Given the description of an element on the screen output the (x, y) to click on. 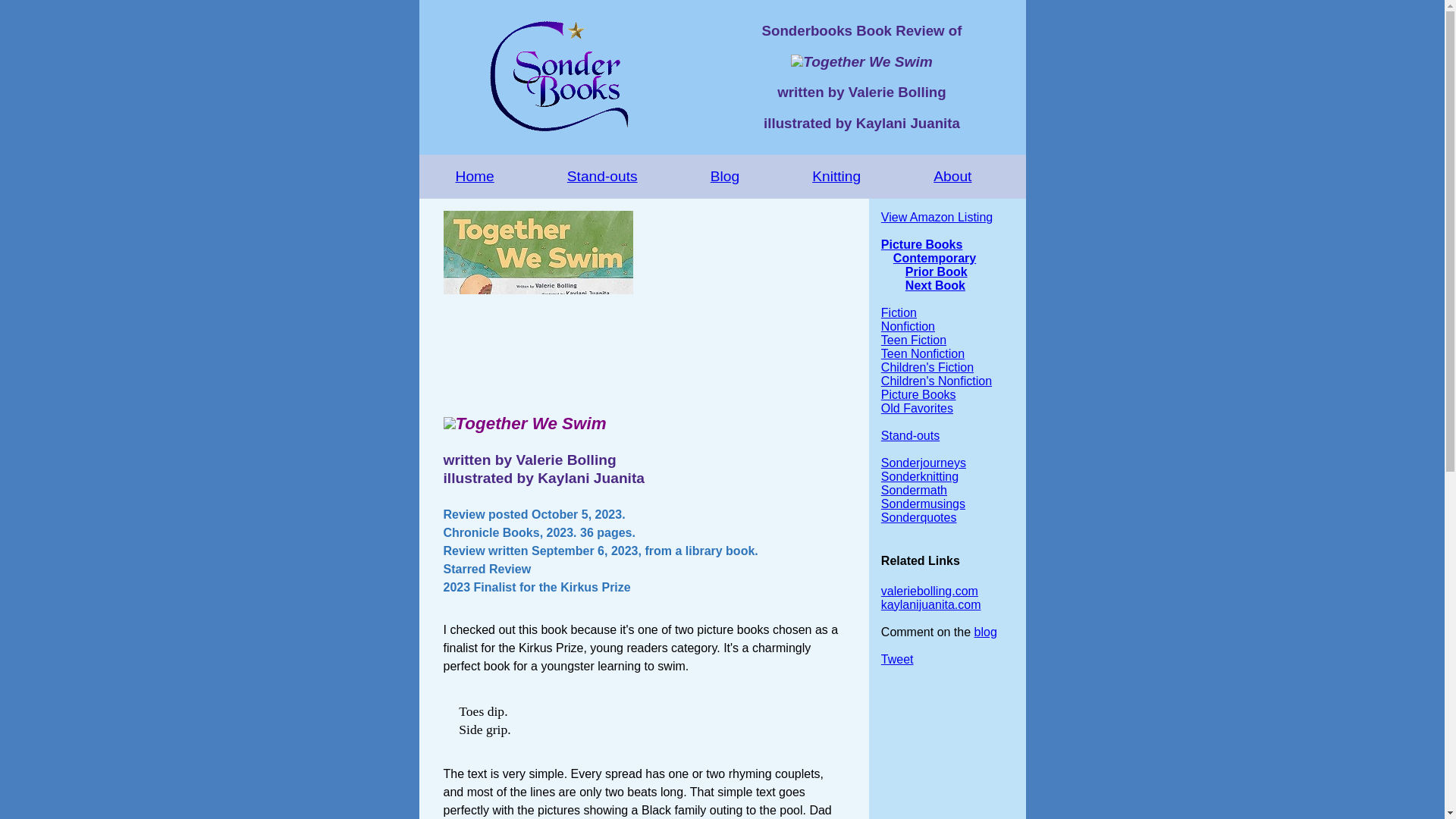
Sondermusings (922, 503)
valeriebolling.com (929, 590)
Teen Fiction (913, 339)
Nonfiction (907, 326)
Stand-outs (909, 435)
Tweet (897, 658)
Old Favorites (916, 408)
Children's Nonfiction (935, 380)
About (952, 176)
Next Book (935, 285)
Home (475, 176)
Knitting (836, 176)
Sonderknitting (919, 476)
blog (985, 631)
Blog (724, 176)
